Given the description of an element on the screen output the (x, y) to click on. 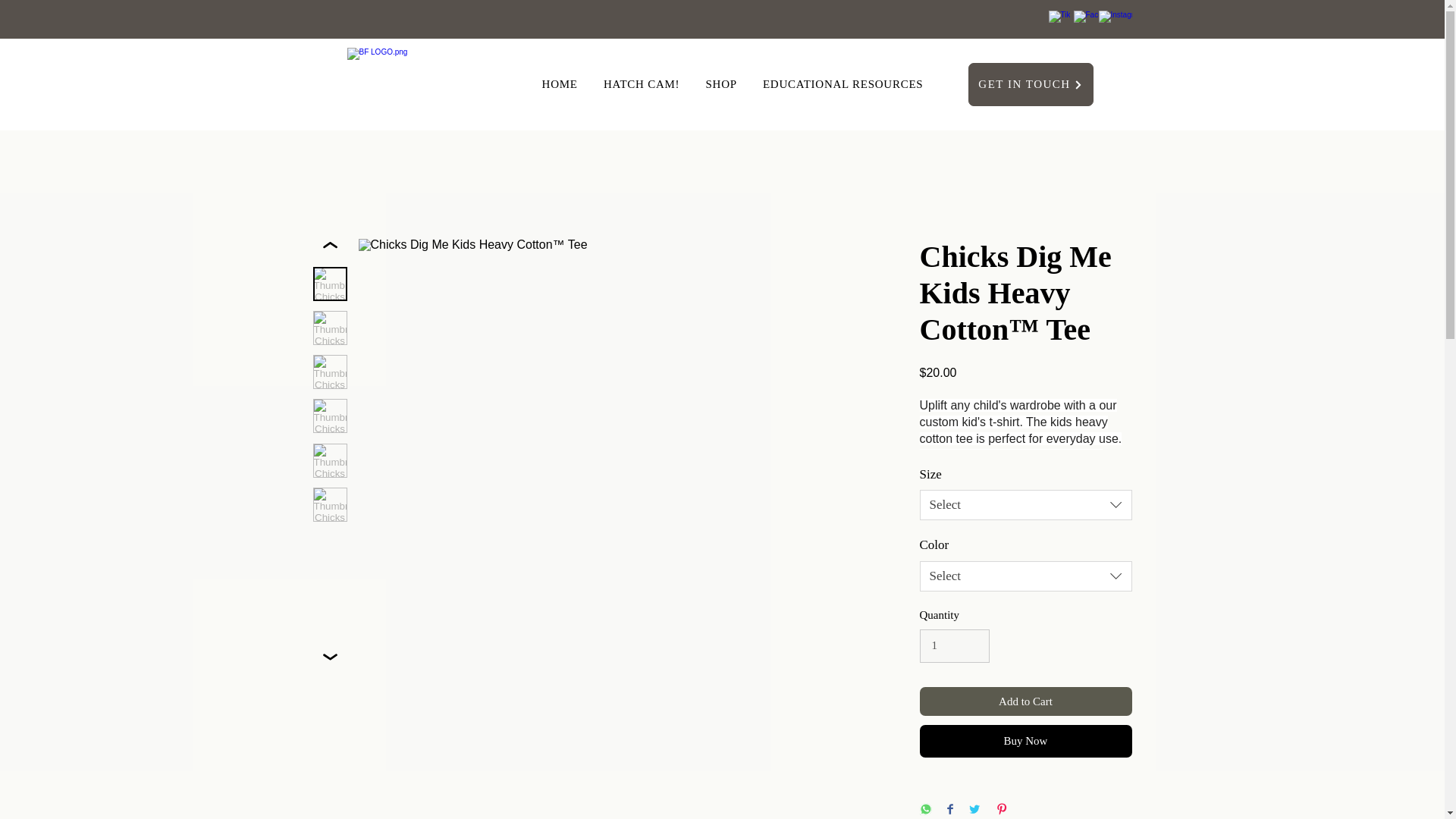
Add to Cart (1024, 701)
Buy Now (1024, 740)
Select (1024, 576)
HATCH CAM! (642, 84)
Select (1024, 504)
GET IN TOUCH (1030, 84)
HOME (560, 84)
EDUCATIONAL RESOURCES (842, 84)
1 (954, 645)
